Given the description of an element on the screen output the (x, y) to click on. 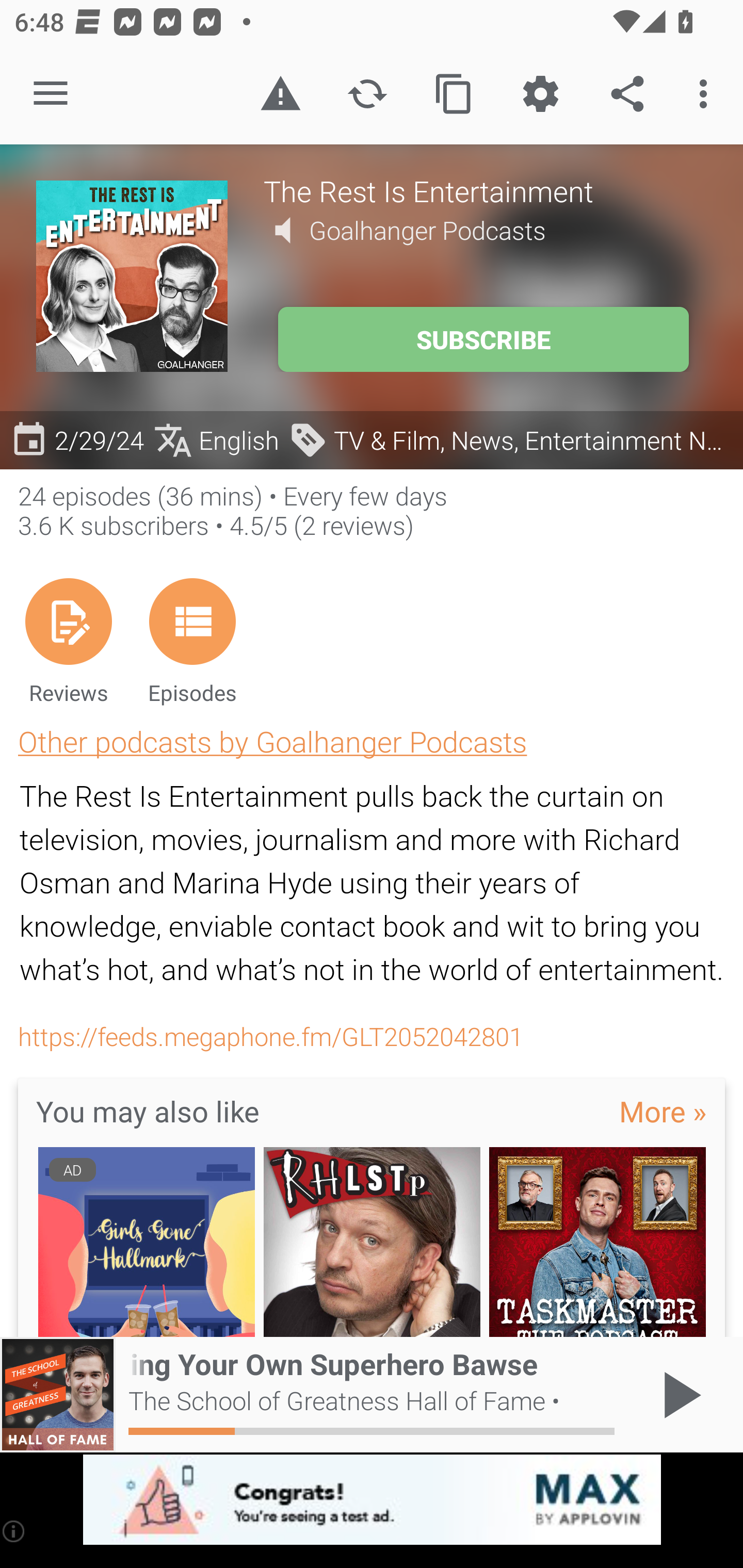
Open navigation sidebar (50, 93)
Report inappropriate content (280, 93)
Refresh podcast description (366, 93)
Copy feed url to clipboard (453, 93)
Custom Settings (540, 93)
Share the podcast (626, 93)
More options (706, 93)
The Rest Is Entertainment (484, 190)
Goalhanger Podcasts (427, 230)
SUBSCRIBE (482, 339)
TV & Film, News, Entertainment News, Arts, Books (511, 439)
Reviews (68, 640)
Episodes (192, 640)
Other podcasts by Goalhanger Podcasts (272, 740)
More » (662, 1110)
AD (145, 1242)
Play / Pause (677, 1394)
app-monetization (371, 1500)
(i) (14, 1531)
